Given the description of an element on the screen output the (x, y) to click on. 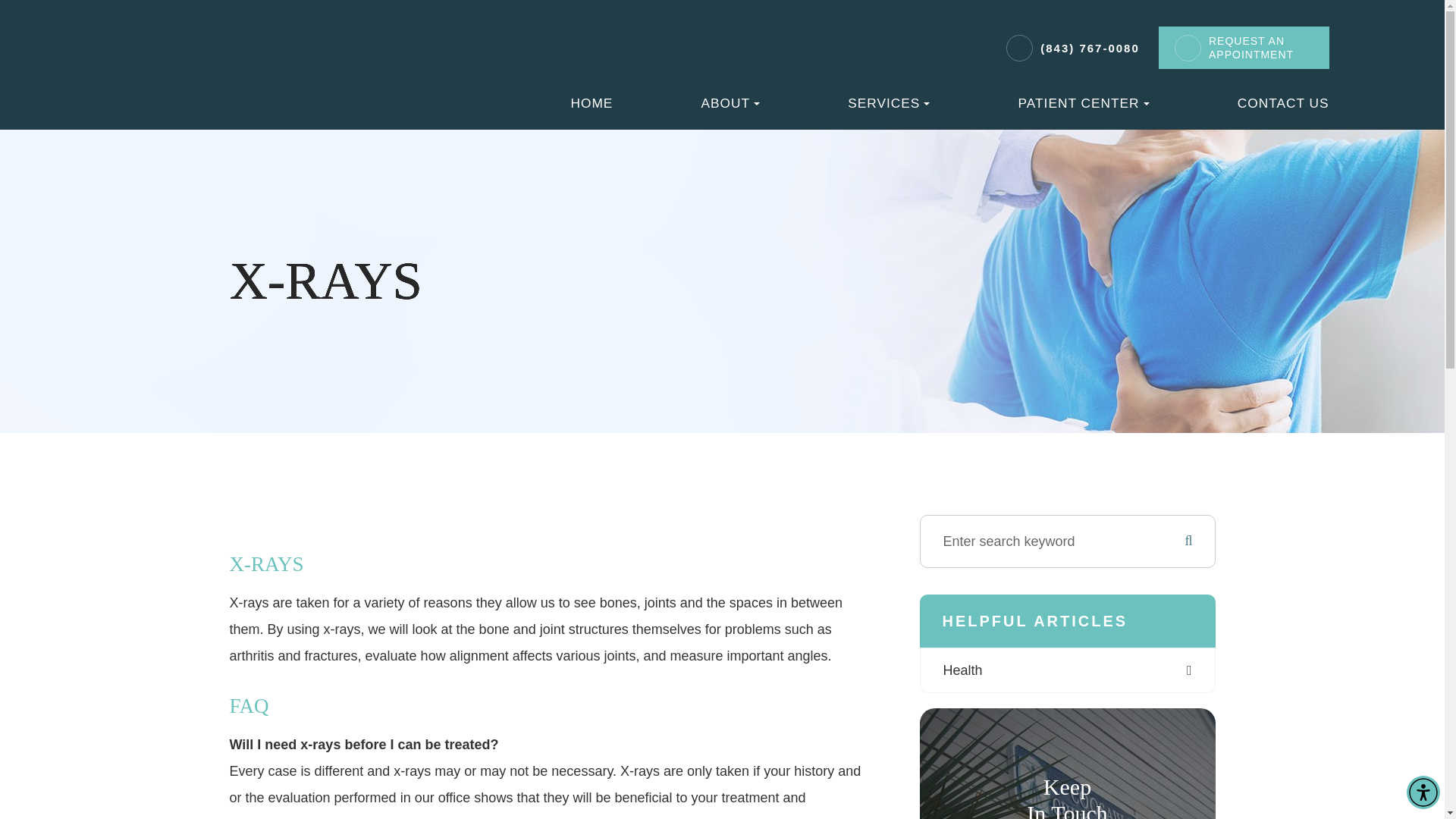
Accessibility Menu (1422, 792)
HOME (591, 102)
ABOUT (730, 102)
REQUEST AN APPOINTMENT (1260, 47)
SERVICES (888, 102)
